Given the description of an element on the screen output the (x, y) to click on. 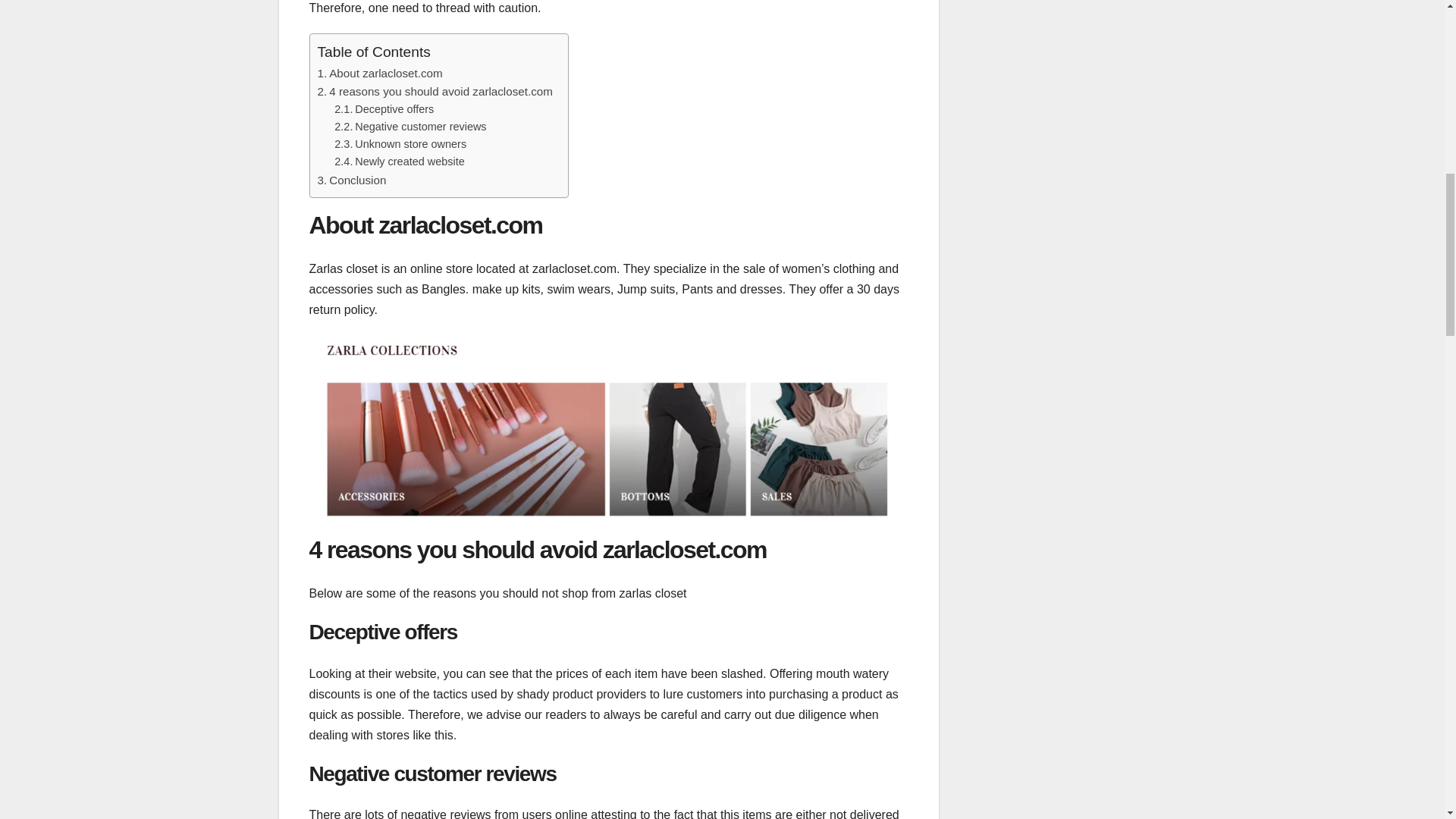
Newly created website (409, 161)
4 reasons you should avoid zarlacloset.com (441, 91)
Newly created website (409, 161)
Unknown store owners (410, 143)
Conclusion (357, 179)
Deceptive offers (394, 109)
Deceptive offers (394, 109)
Unknown store owners (410, 143)
Conclusion (357, 179)
About zarlacloset.com (385, 72)
